Given the description of an element on the screen output the (x, y) to click on. 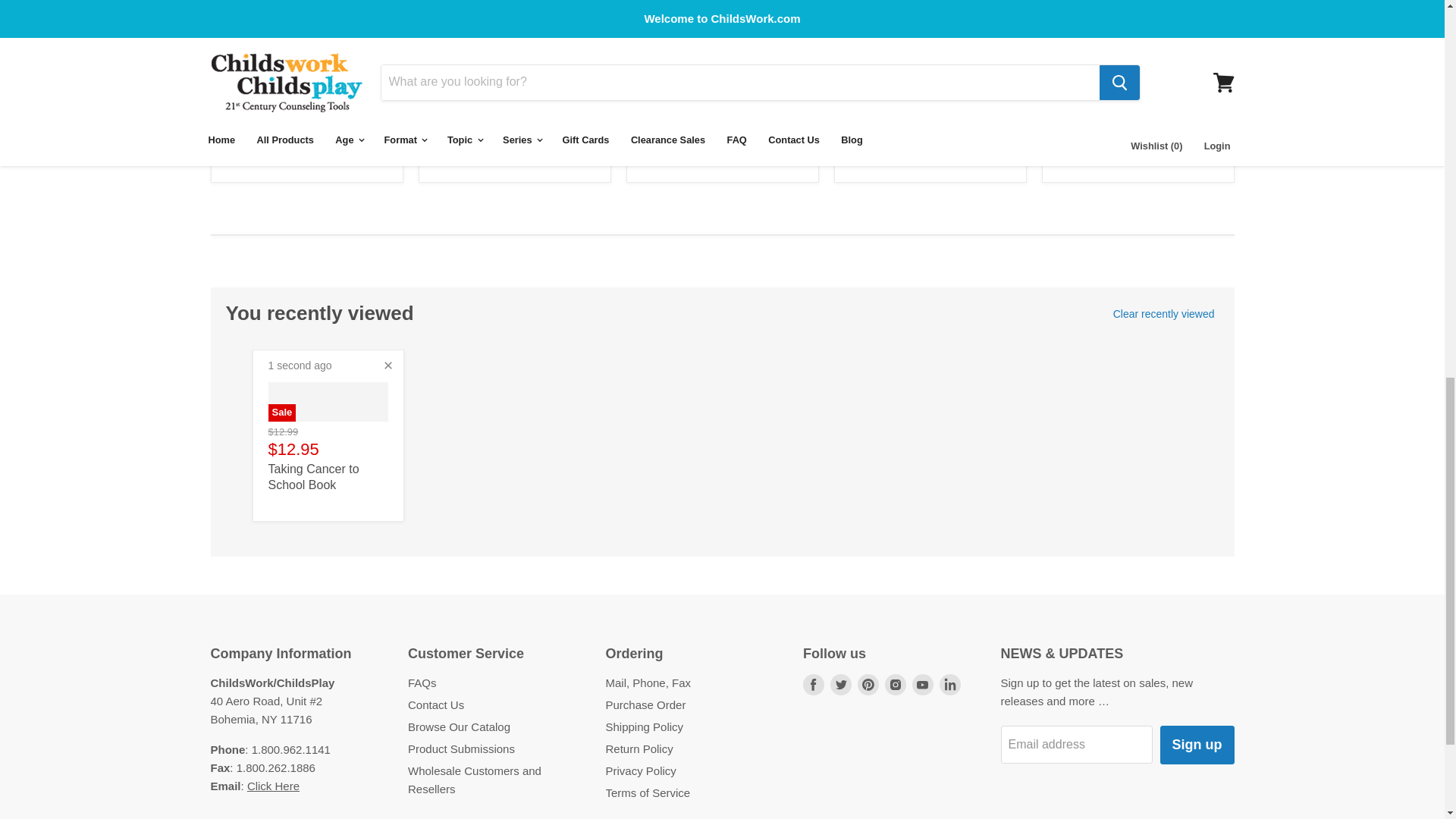
Instagram (895, 789)
Facebook (813, 789)
LinkedIn (949, 789)
Twitter (840, 789)
Pinterest (868, 789)
Youtube (922, 789)
